Given the description of an element on the screen output the (x, y) to click on. 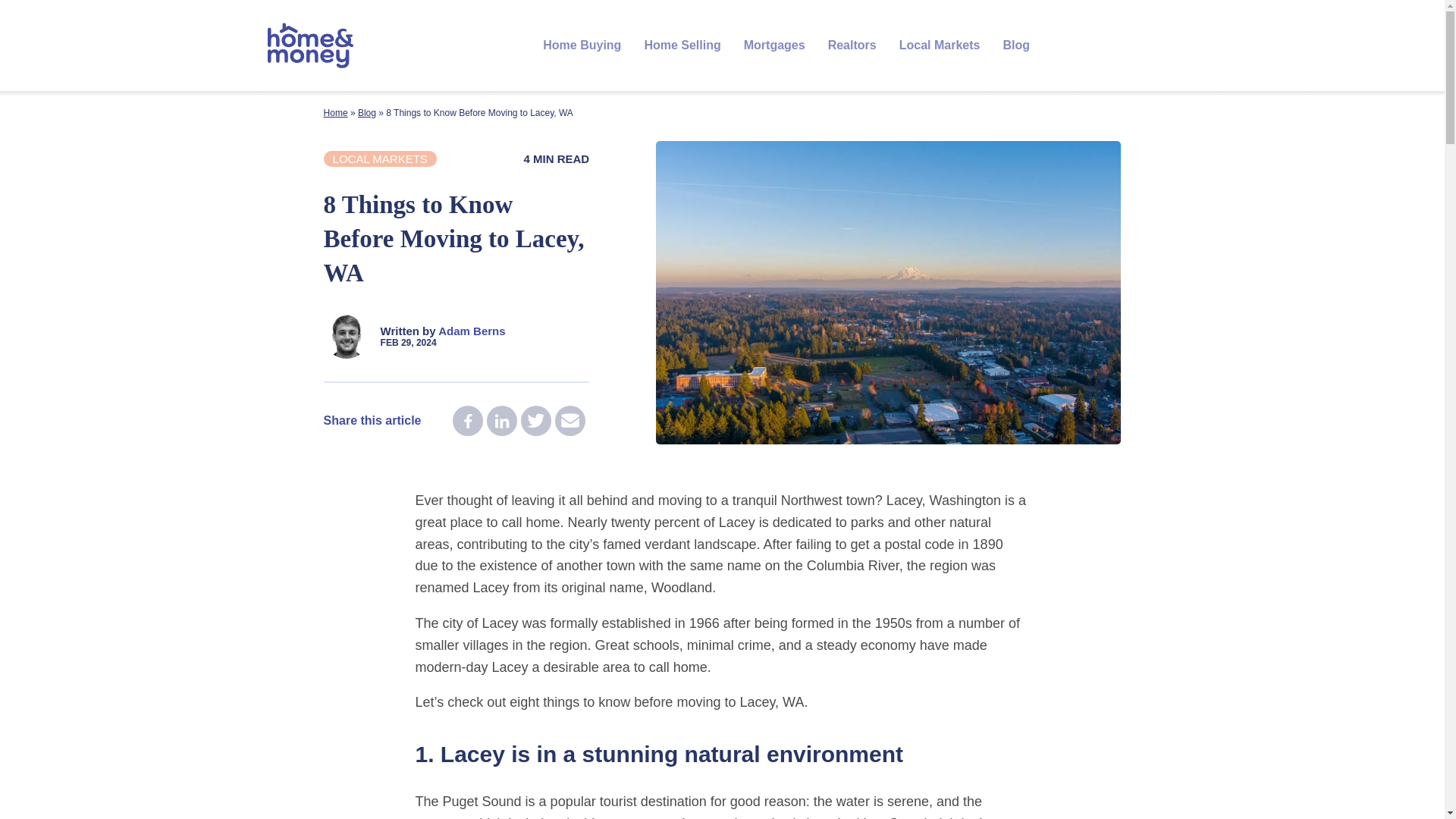
Facebook (467, 420)
LinkedIn (501, 420)
Email (569, 420)
Twitter (536, 420)
Home And Money (311, 44)
